Given the description of an element on the screen output the (x, y) to click on. 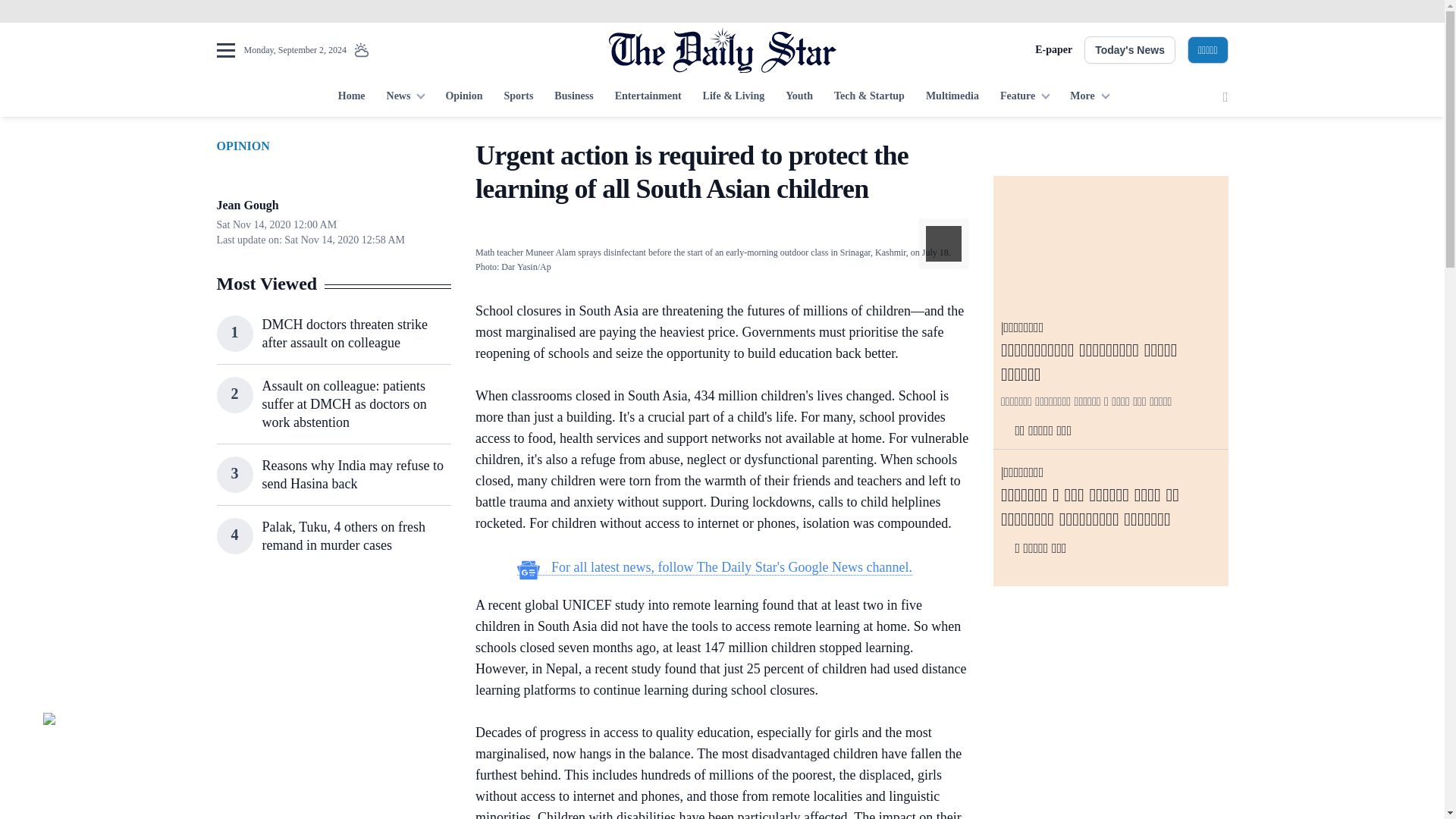
E-paper (1053, 49)
Sports (518, 96)
Multimedia (952, 96)
Opinion (463, 96)
Home (351, 96)
Business (573, 96)
Today's News (1129, 49)
News (405, 96)
Youth (799, 96)
